Given the description of an element on the screen output the (x, y) to click on. 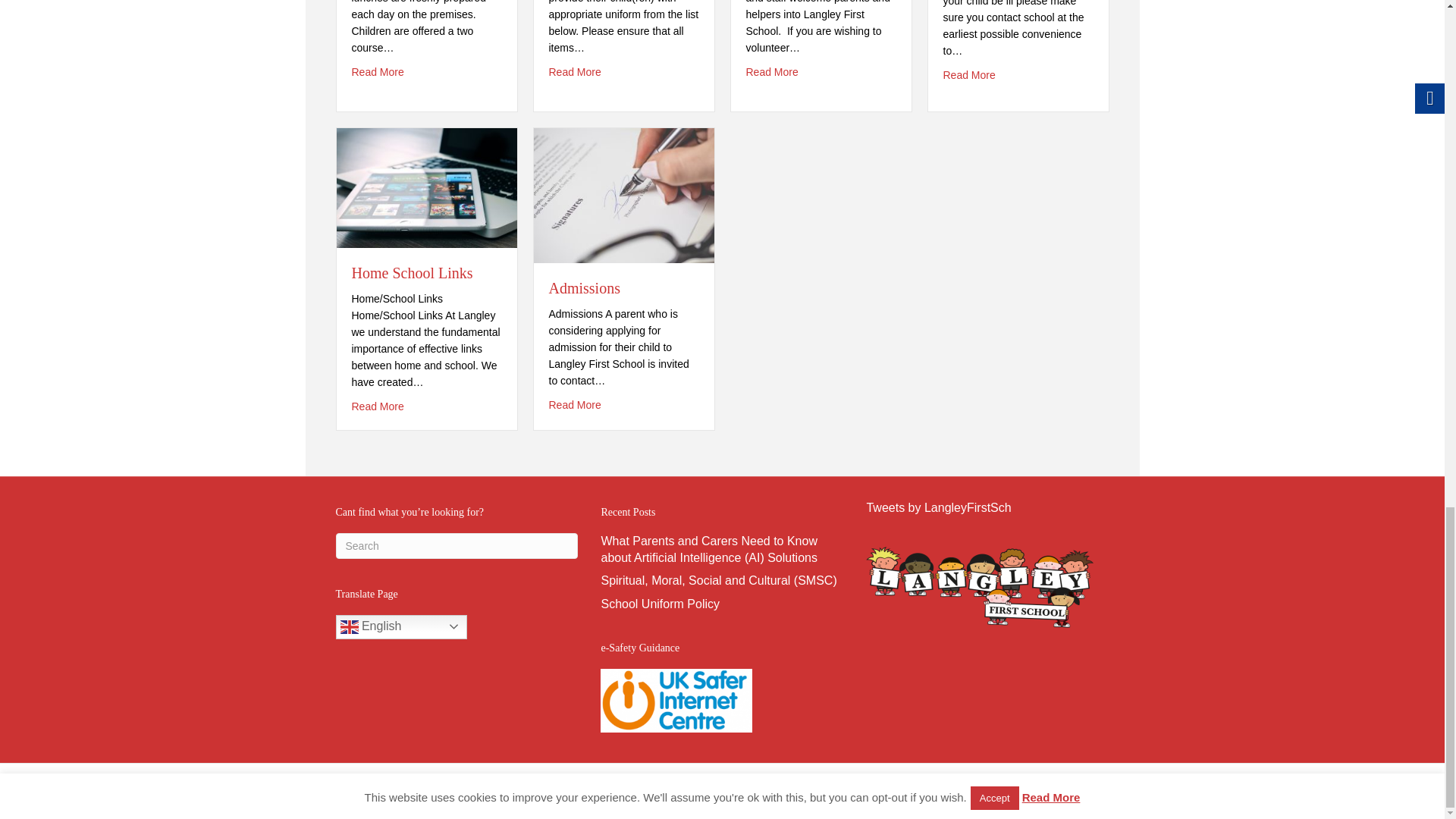
Uniform (574, 71)
Home School Links (426, 186)
Absence from school (969, 74)
Helping in School (771, 71)
